Given the description of an element on the screen output the (x, y) to click on. 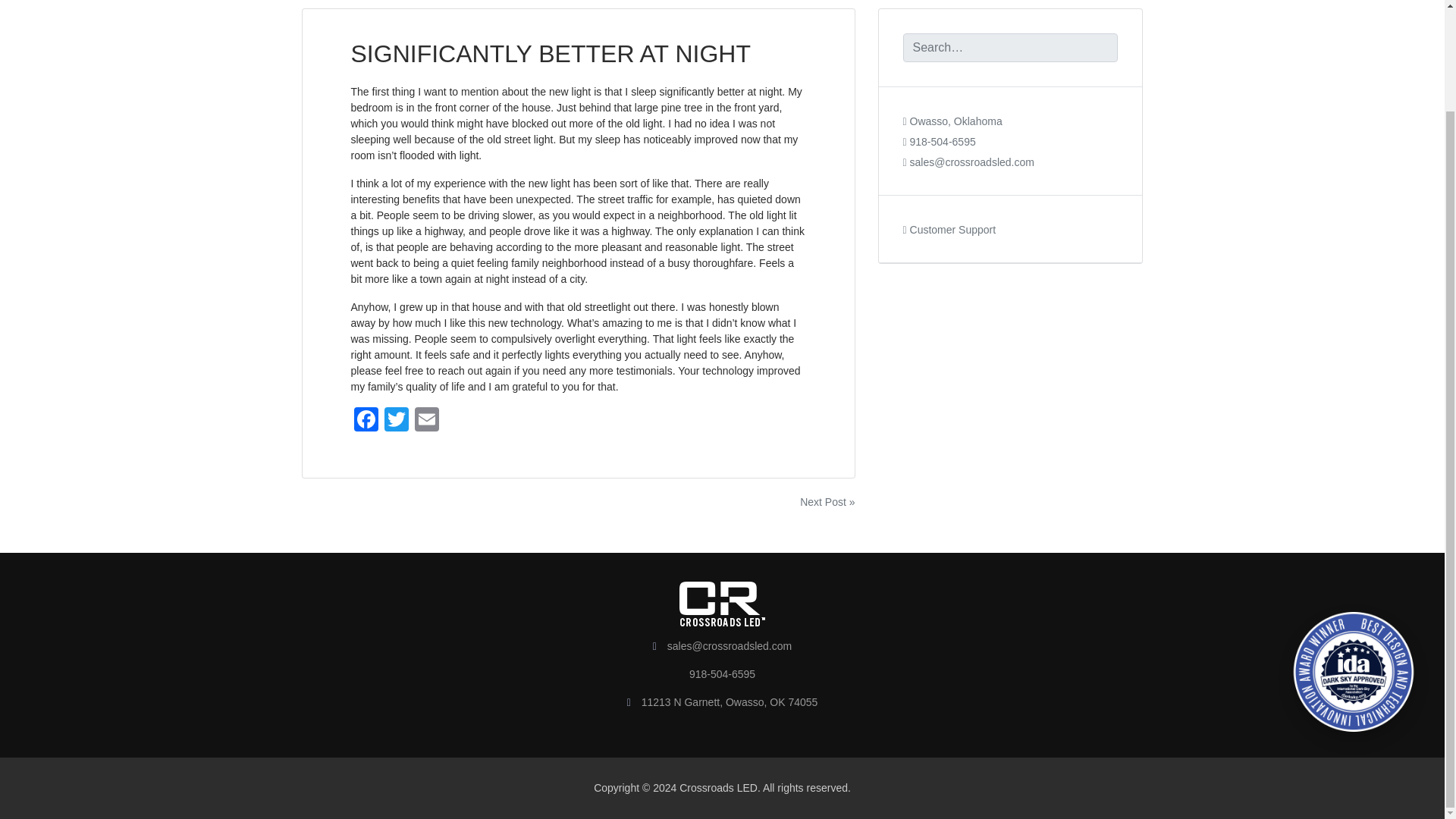
Owasso, Oklahoma (951, 133)
918-504-6595 (938, 153)
Customer Support (948, 241)
